Given the description of an element on the screen output the (x, y) to click on. 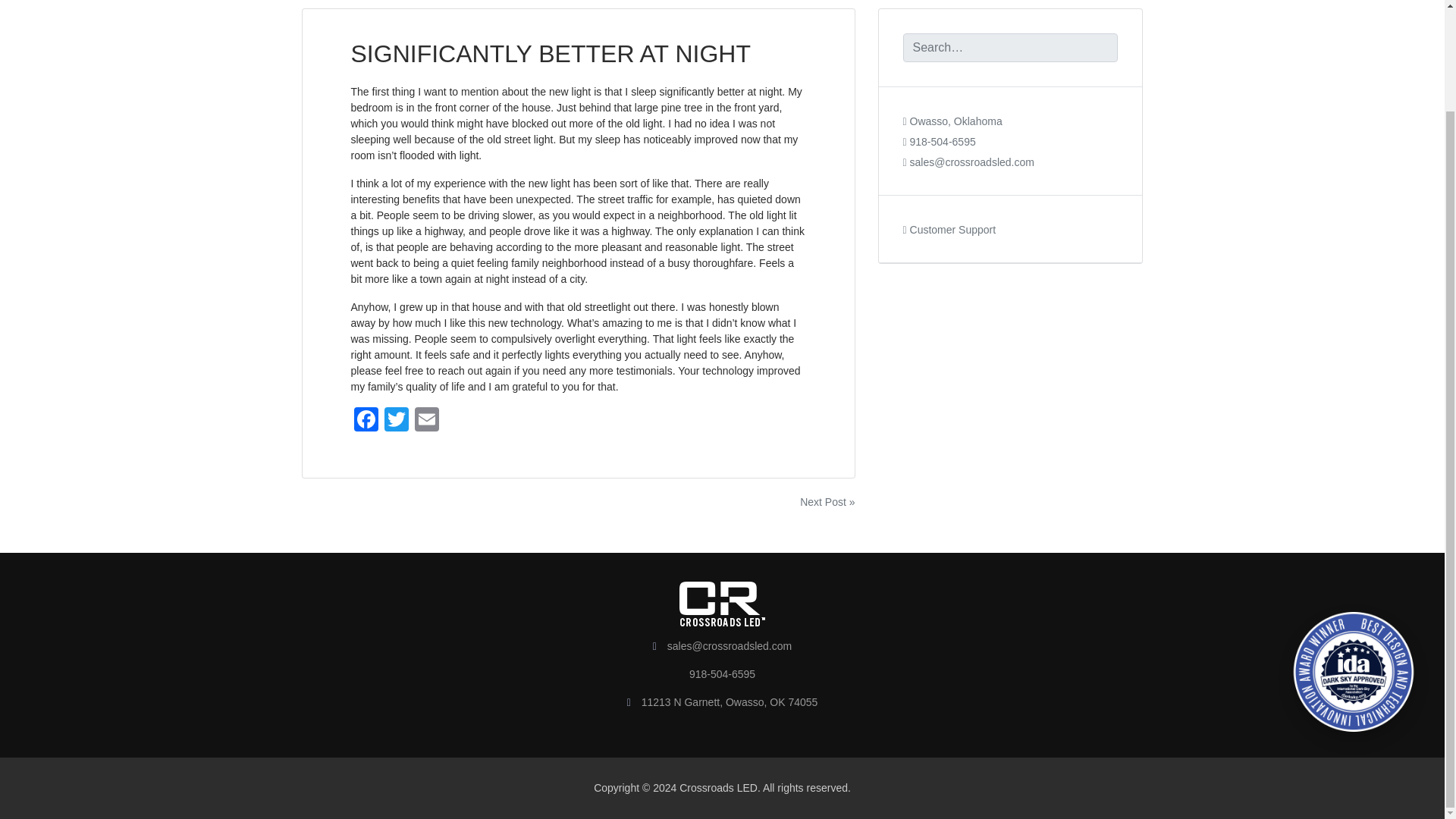
Owasso, Oklahoma (951, 133)
918-504-6595 (938, 153)
Customer Support (948, 241)
